Given the description of an element on the screen output the (x, y) to click on. 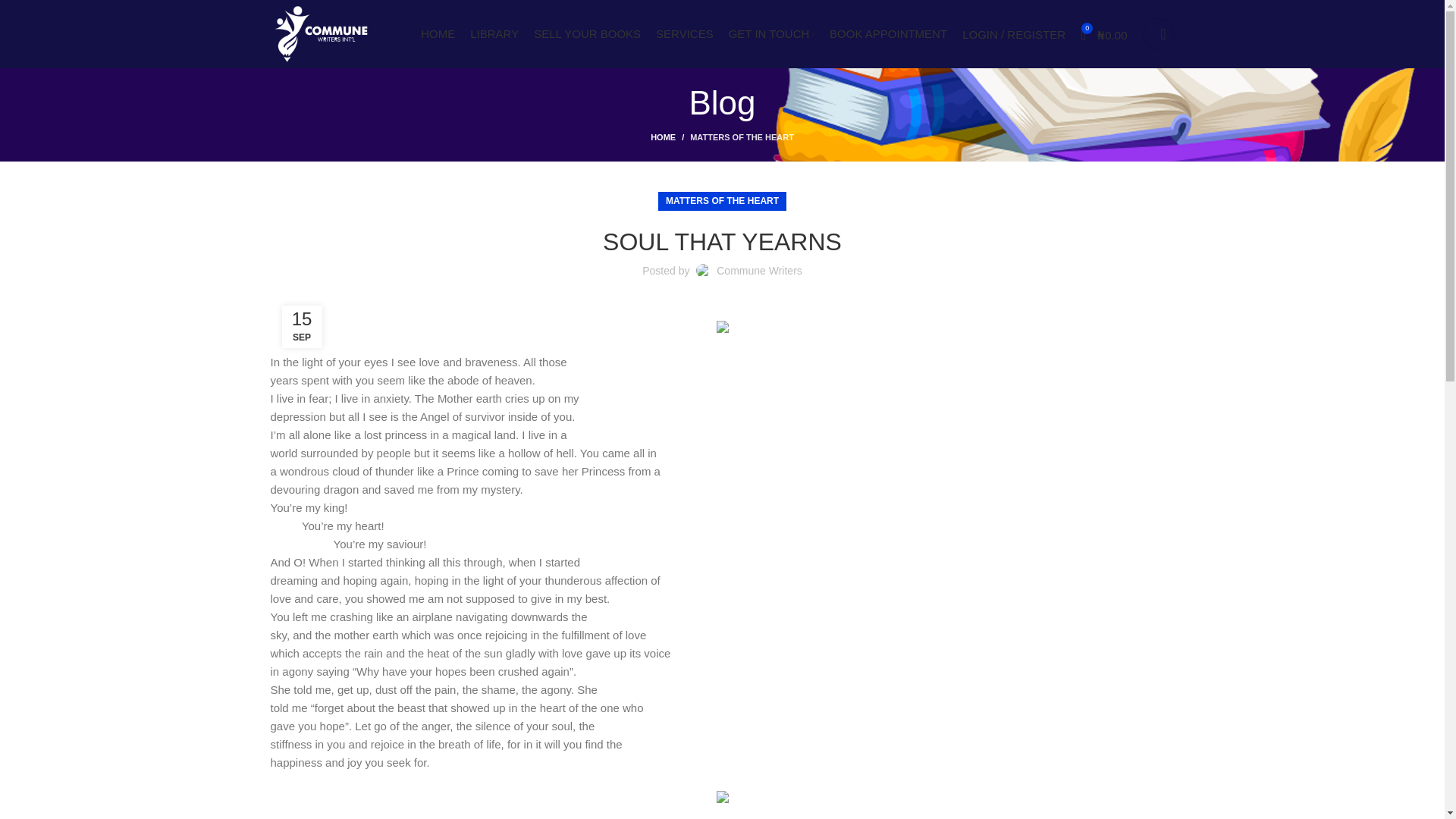
BOOK APPOINTMENT (888, 33)
GET IN TOUCH (771, 33)
Shopping cart (1104, 33)
HOME (670, 137)
HOME (437, 33)
MATTERS OF THE HEART (741, 136)
MATTERS OF THE HEART (721, 200)
Search (1157, 33)
LIBRARY (494, 33)
My account (1014, 33)
